Given the description of an element on the screen output the (x, y) to click on. 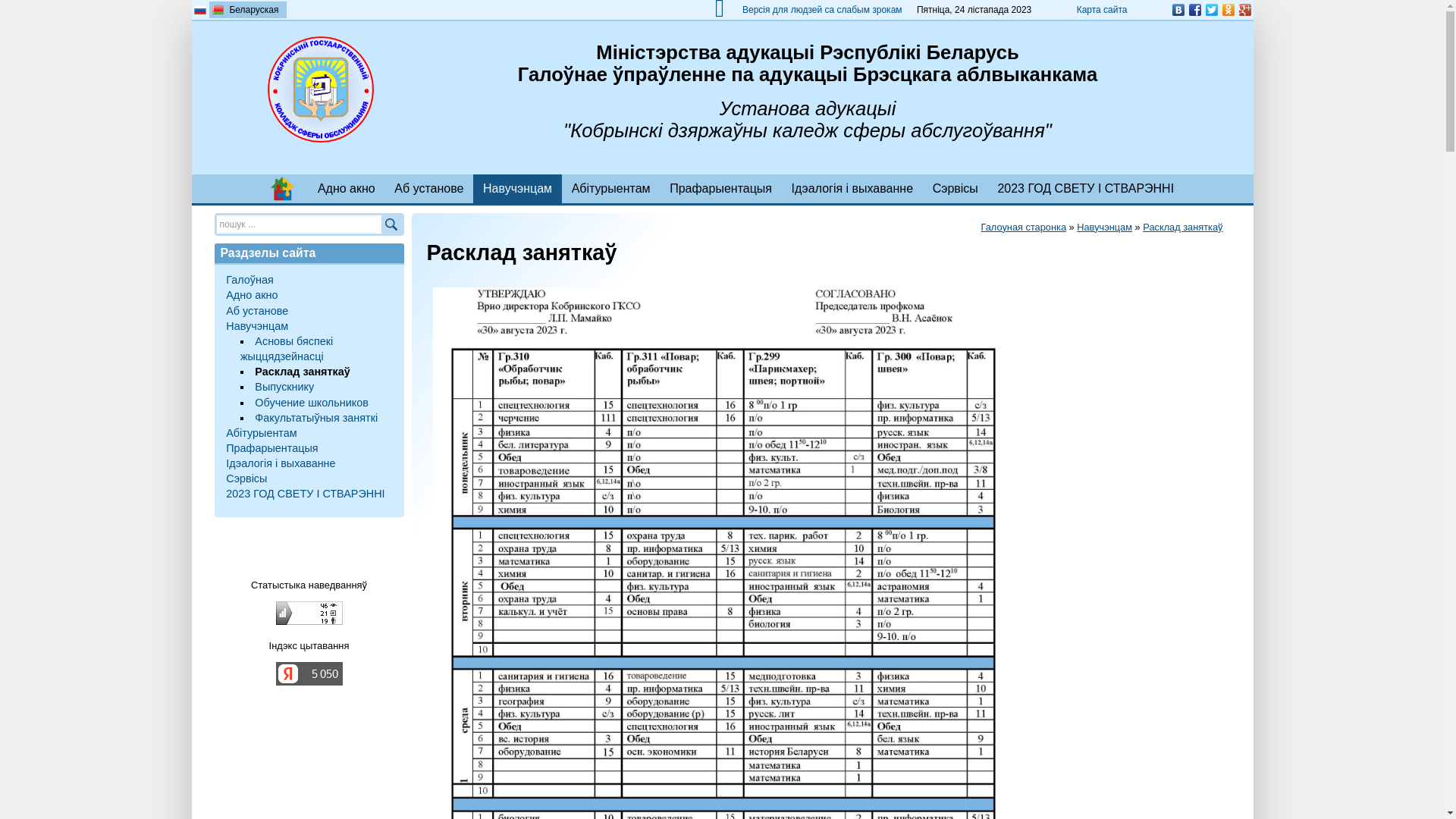
Twitter Element type: hover (1210, 9)
Google Plus Element type: hover (1244, 9)
Facebook Element type: hover (1194, 9)
